Given the description of an element on the screen output the (x, y) to click on. 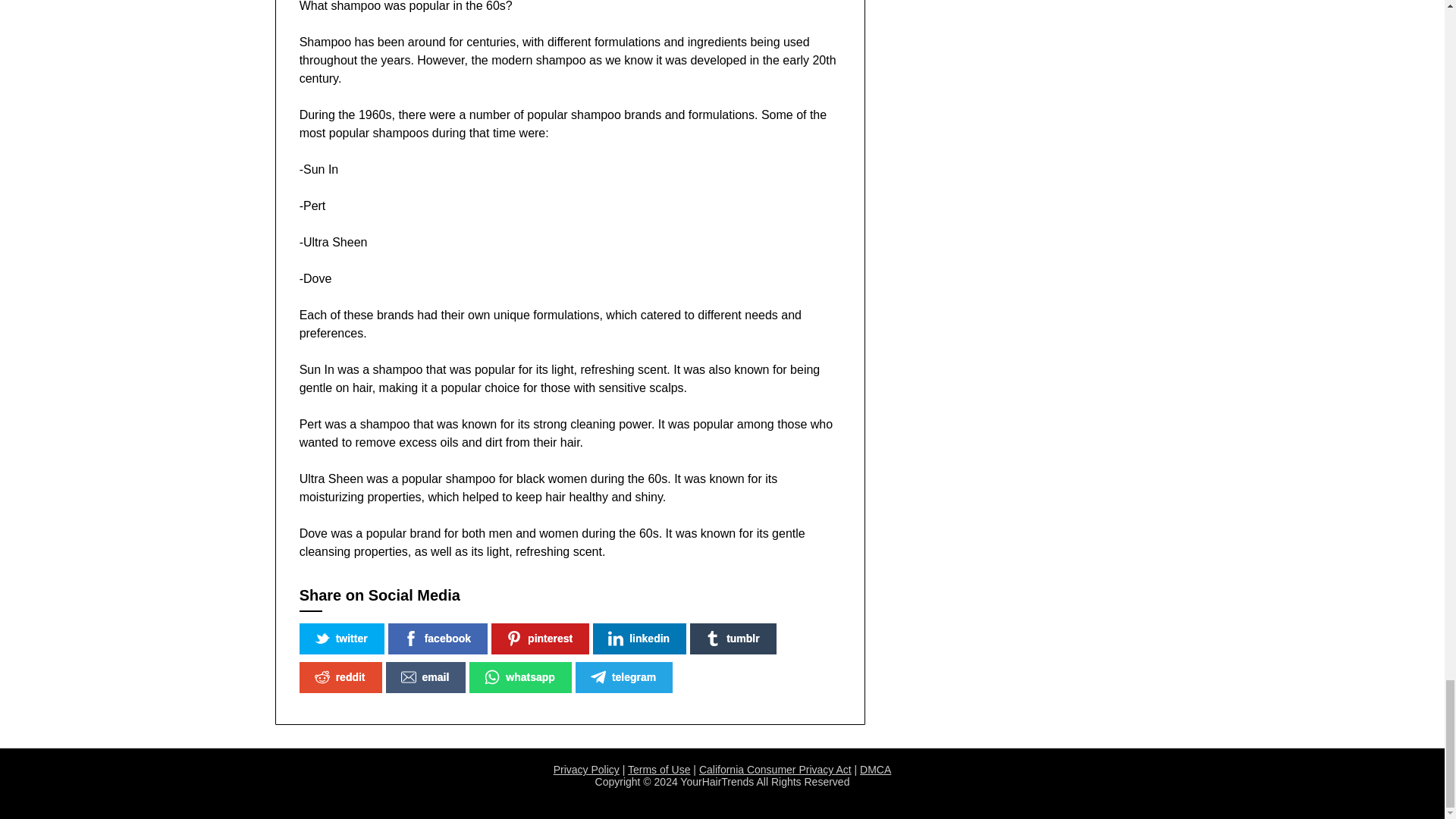
twitter (341, 638)
email (425, 676)
whatsapp (520, 676)
pinterest (540, 638)
tumblr (733, 638)
reddit (340, 676)
linkedin (638, 638)
telegram (623, 676)
facebook (437, 638)
